Given the description of an element on the screen output the (x, y) to click on. 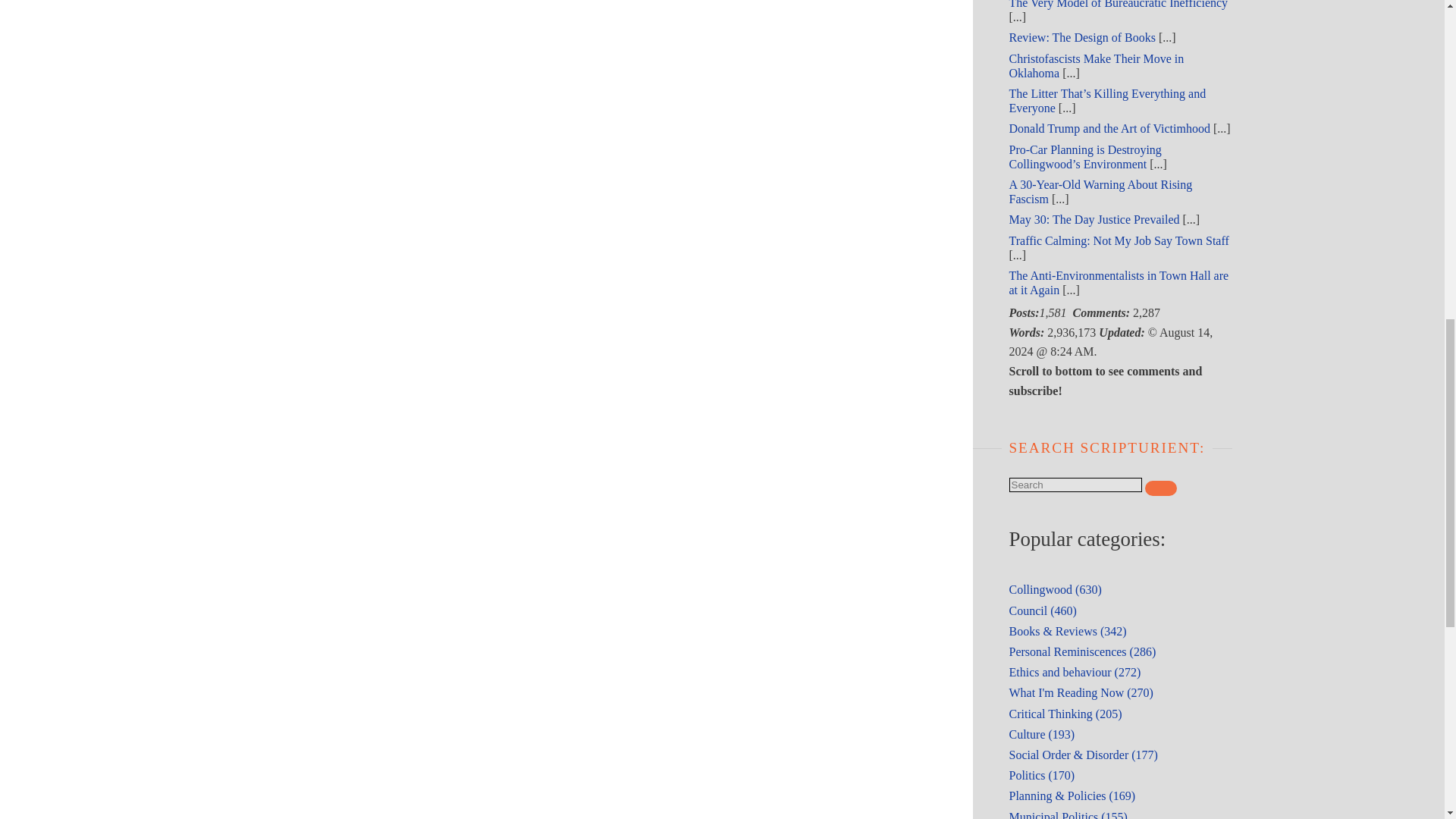
The Very Model of Bureaucratic Inefficiency (1118, 4)
Christofascists Make Their Move in Oklahoma (1096, 65)
Review: The Design of Books (1081, 37)
Donald Trump and the Art of Victimhood (1109, 128)
